Given the description of an element on the screen output the (x, y) to click on. 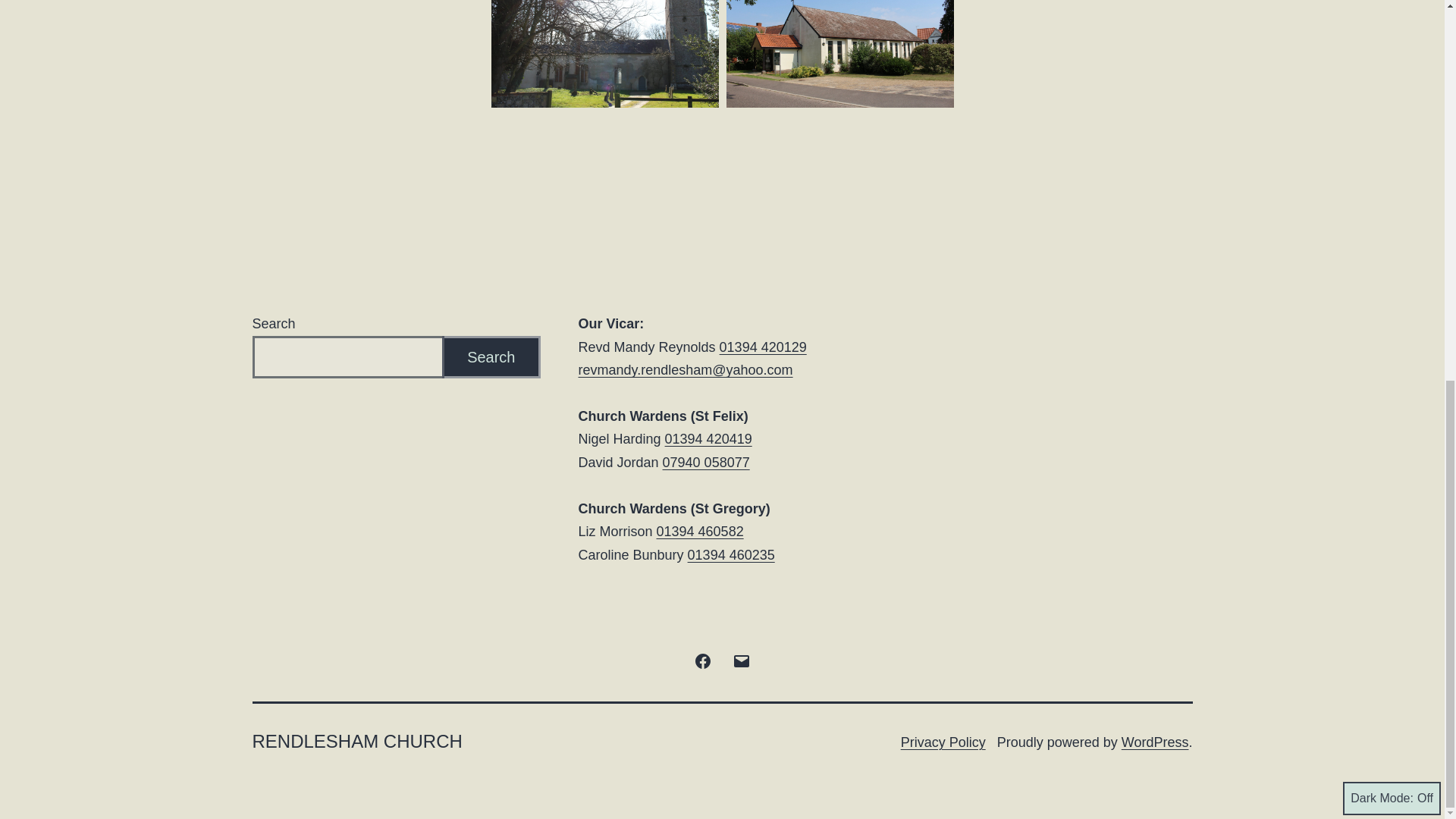
Privacy Policy (943, 742)
01394 460582 (700, 531)
07940 058077 (705, 462)
Search (491, 357)
01394 420129 (762, 346)
Email (741, 660)
01394 420419 (708, 438)
Facebook (703, 660)
01394 460235 (730, 554)
Dark Mode: (1391, 89)
